Given the description of an element on the screen output the (x, y) to click on. 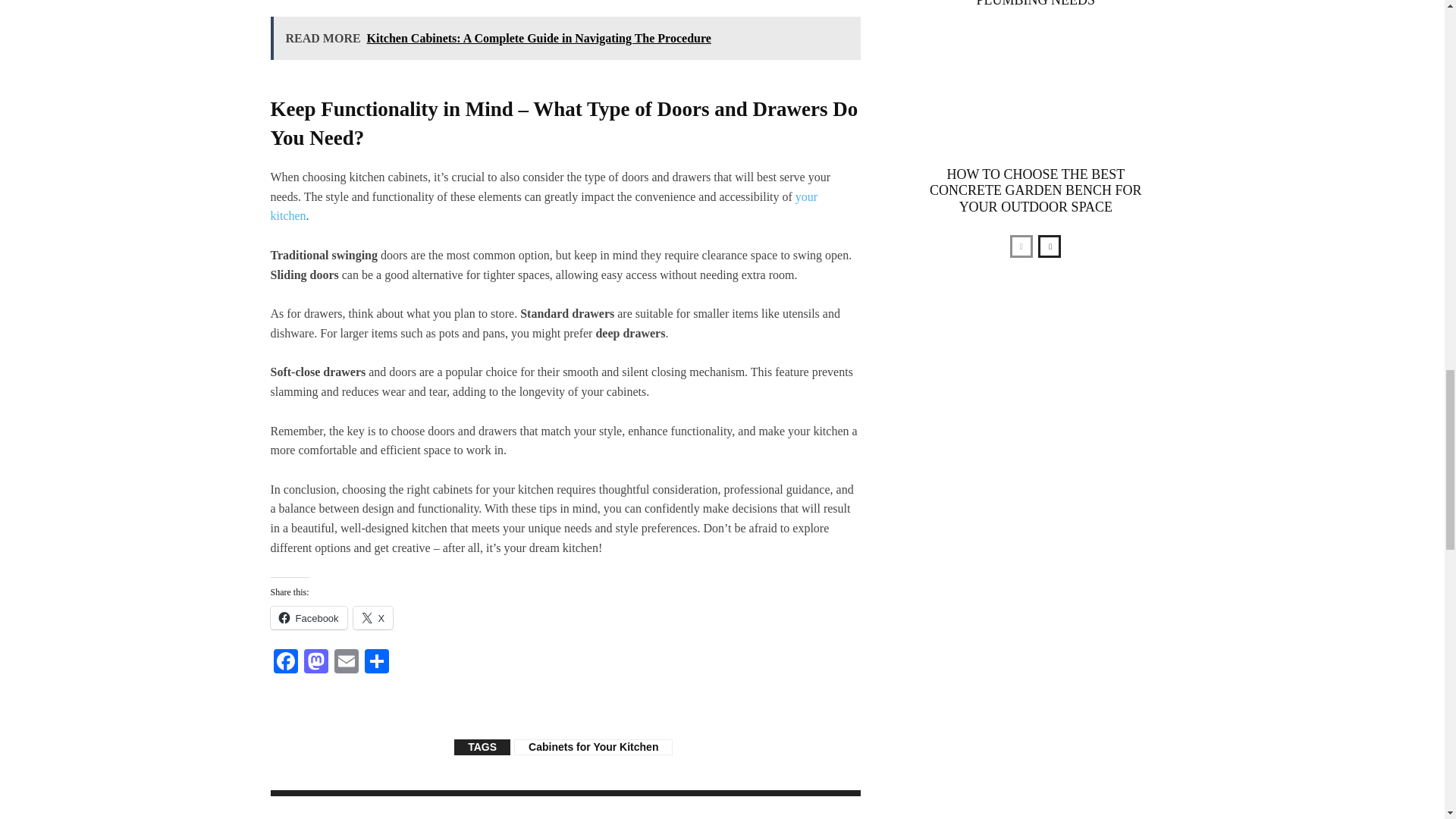
Click to share on X (373, 617)
Email (345, 663)
Mastodon (314, 663)
Facebook (284, 663)
Click to share on Facebook (307, 617)
